Given the description of an element on the screen output the (x, y) to click on. 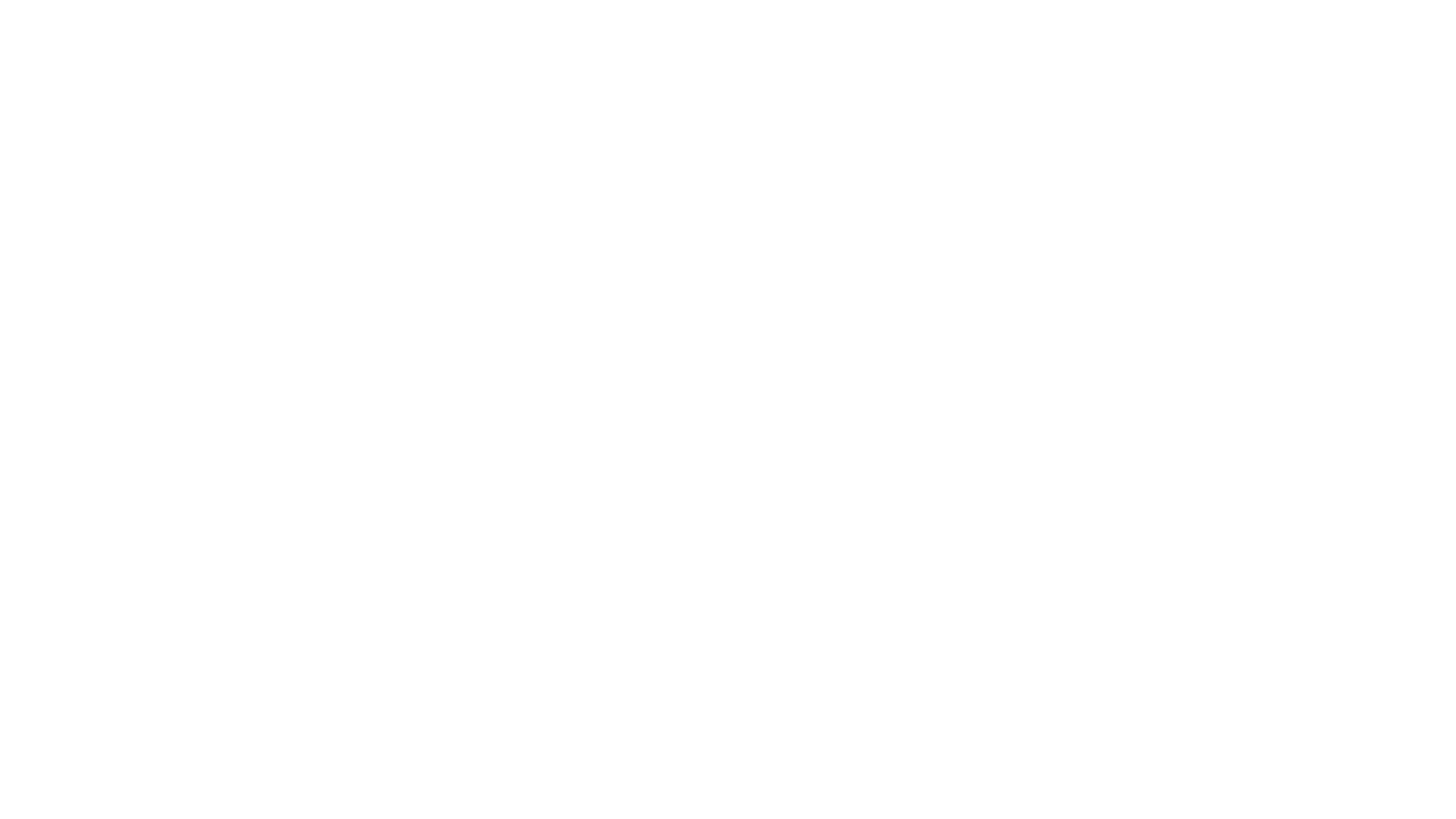
Cloudflare Element type: text (798, 799)
